Given the description of an element on the screen output the (x, y) to click on. 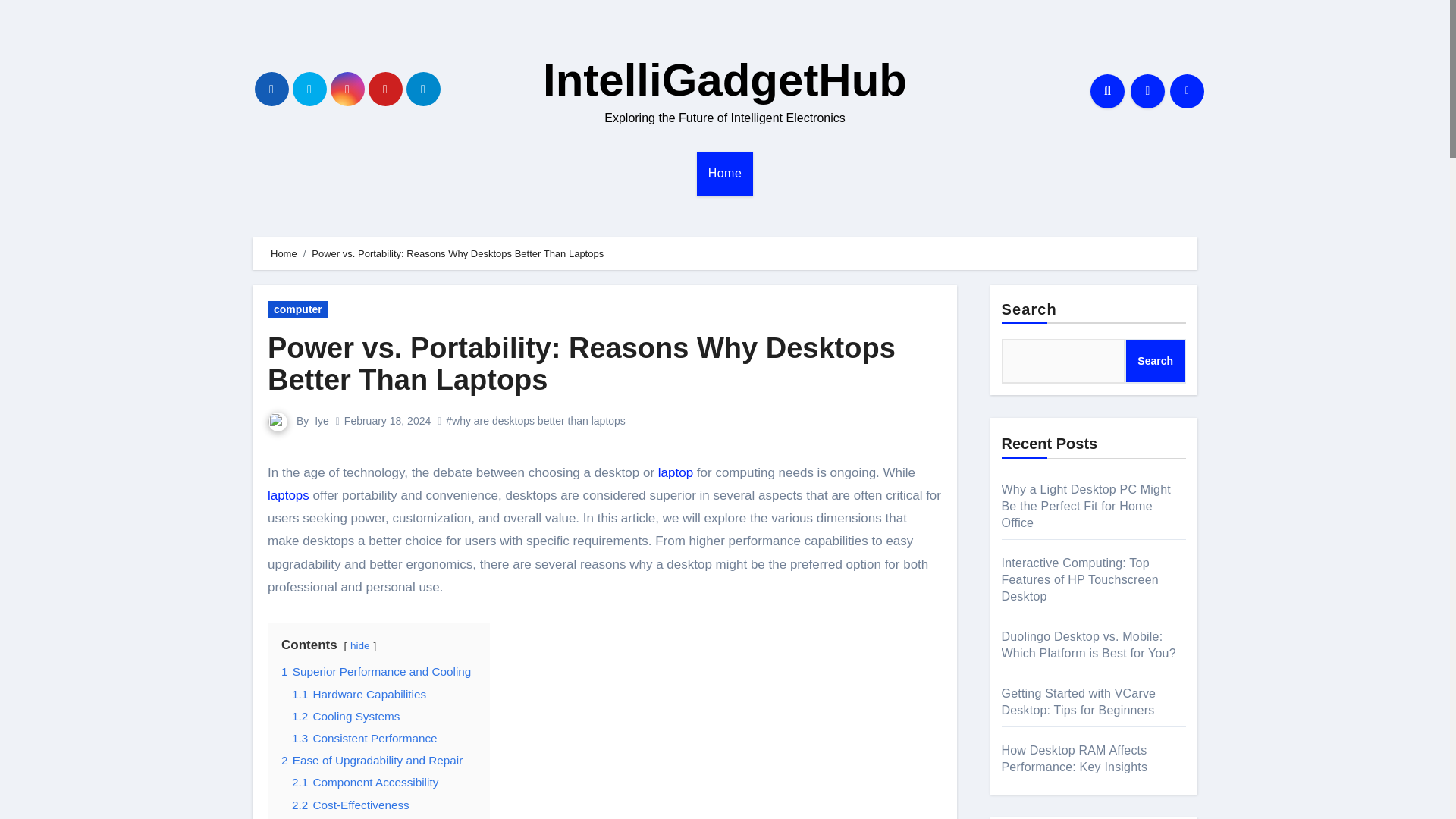
February 18, 2024 (386, 420)
computer (298, 309)
Iye (321, 420)
hide (359, 645)
laptop (675, 472)
1.3 Consistent Performance (365, 738)
Home (725, 173)
laptops (287, 495)
Home (283, 253)
